Given the description of an element on the screen output the (x, y) to click on. 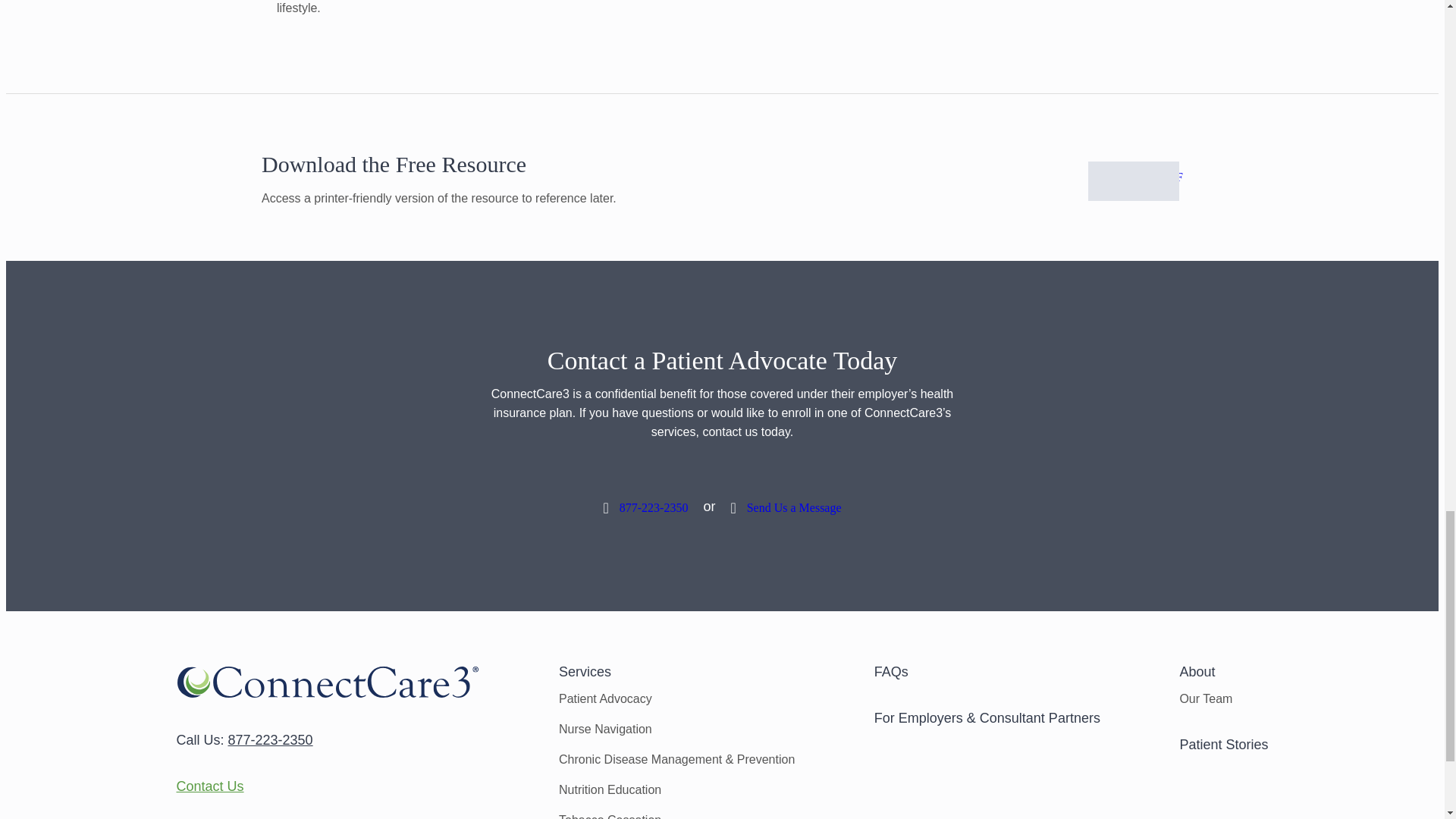
FAQs (891, 671)
877-223-2350 (270, 739)
Contact Us (209, 785)
Send Us a Message (785, 506)
877-223-2350 (644, 506)
Services (585, 671)
Patient Advocacy (605, 698)
Tobacco Cessation (610, 816)
Nurse Navigation (605, 728)
Nutrition Education (610, 789)
